Given the description of an element on the screen output the (x, y) to click on. 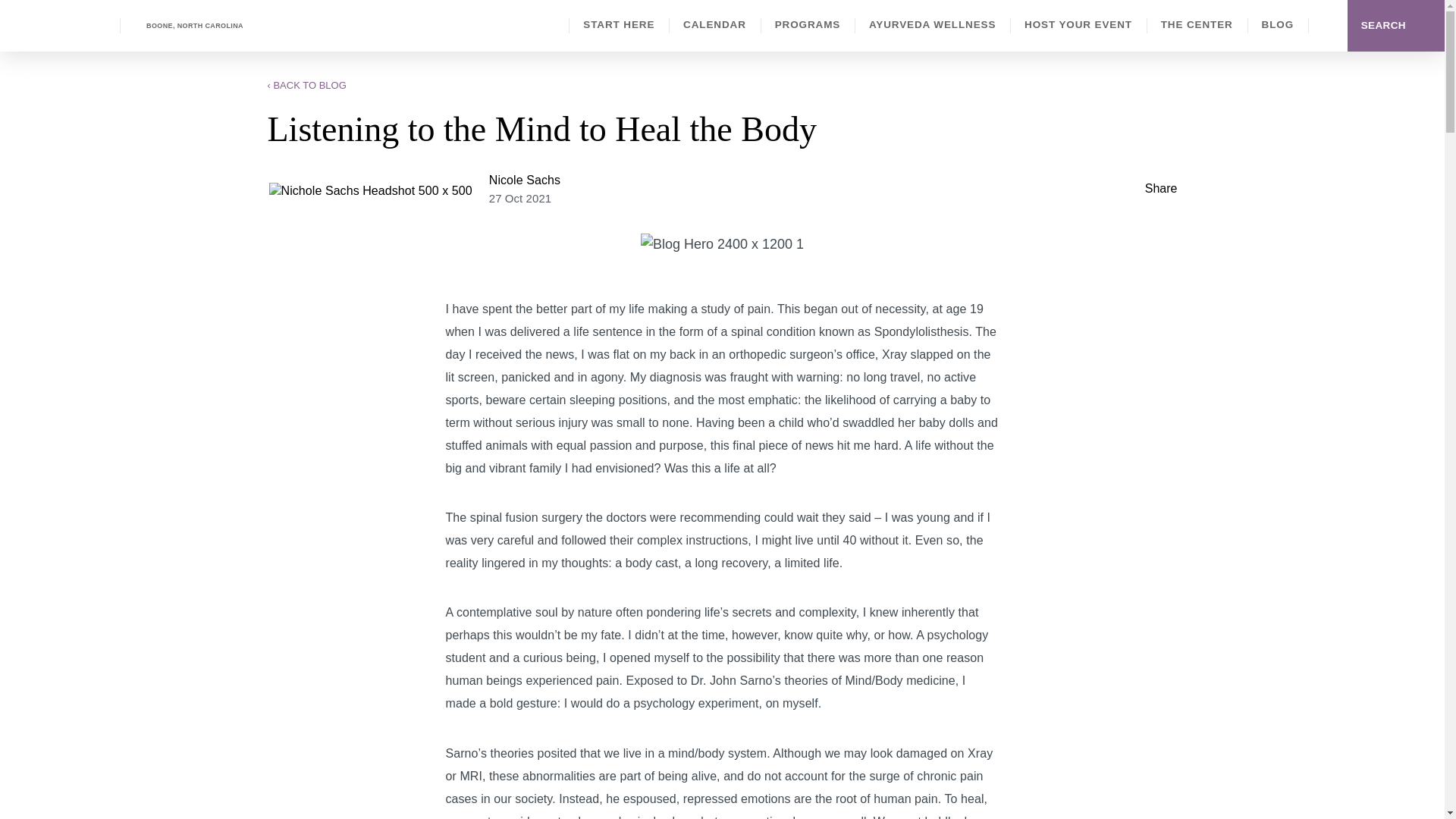
BOONE (187, 25)
AYURVEDA WELLNESS (932, 24)
PROGRAMS (807, 24)
START HERE (618, 24)
HOST YOUR EVENT (1078, 24)
CALENDAR (714, 24)
THE CENTER (1197, 24)
